Given the description of an element on the screen output the (x, y) to click on. 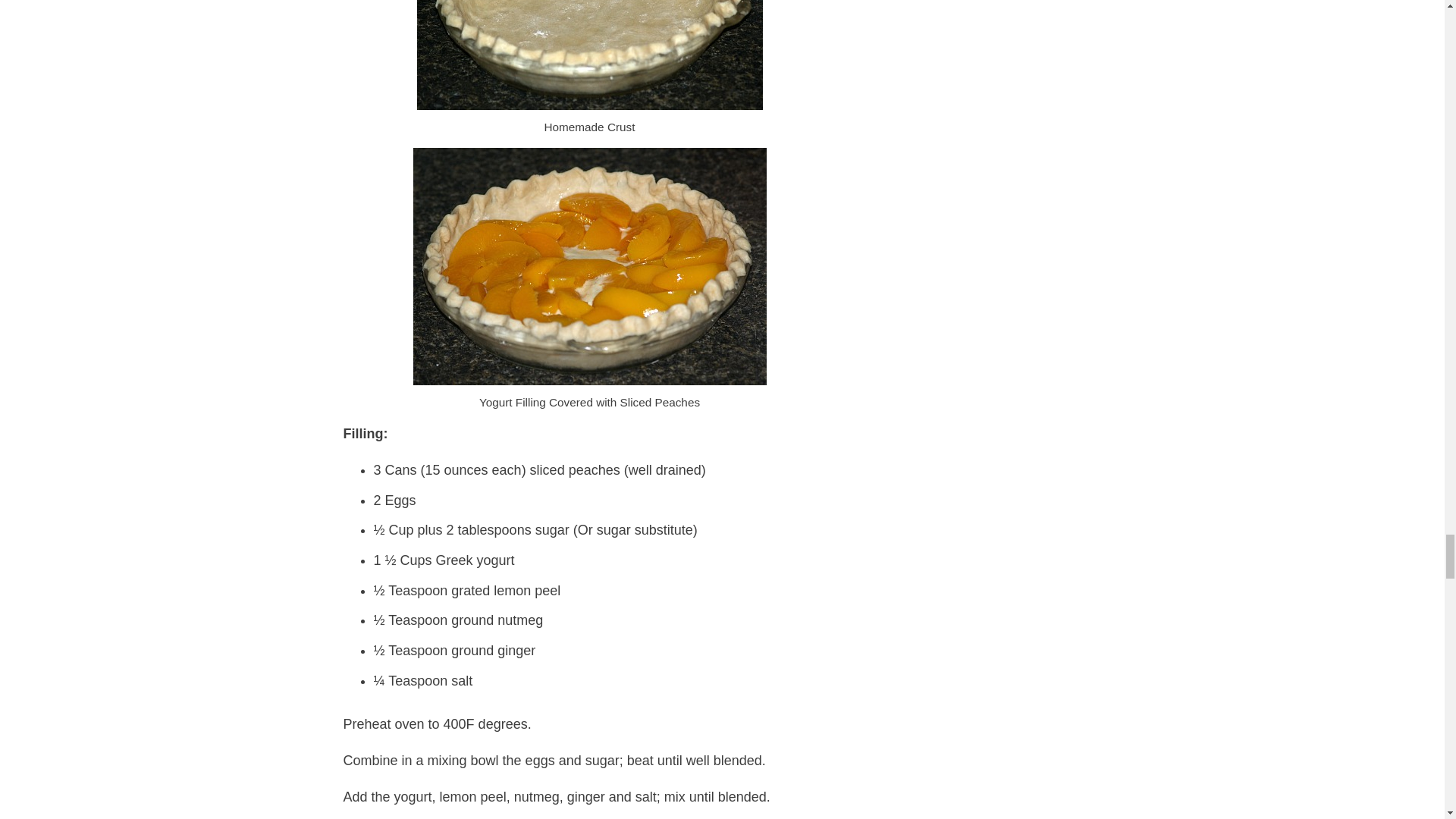
Homemade Crust (589, 54)
Yogurt Filling Covered with Sliced Peaches (588, 266)
